Given the description of an element on the screen output the (x, y) to click on. 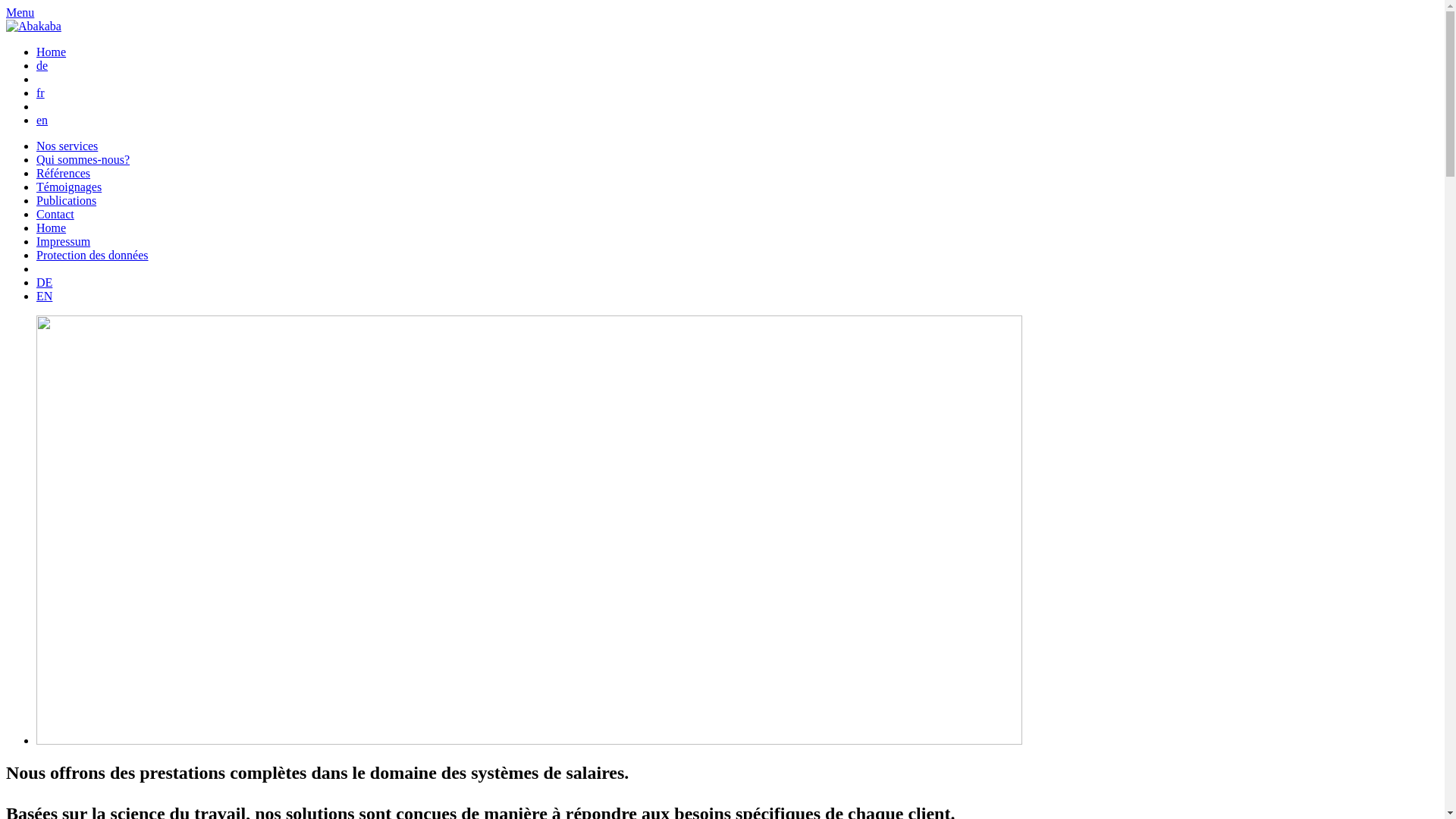
Menu Element type: text (20, 12)
en Element type: text (41, 119)
Qui sommes-nous? Element type: text (82, 159)
Home Element type: text (50, 227)
Nos services Element type: text (66, 145)
de Element type: text (41, 65)
fr Element type: text (40, 92)
Publications Element type: text (66, 200)
EN Element type: text (44, 295)
Contact Element type: text (55, 213)
Home Element type: text (50, 51)
DE Element type: text (44, 282)
Impressum Element type: text (63, 241)
